Given the description of an element on the screen output the (x, y) to click on. 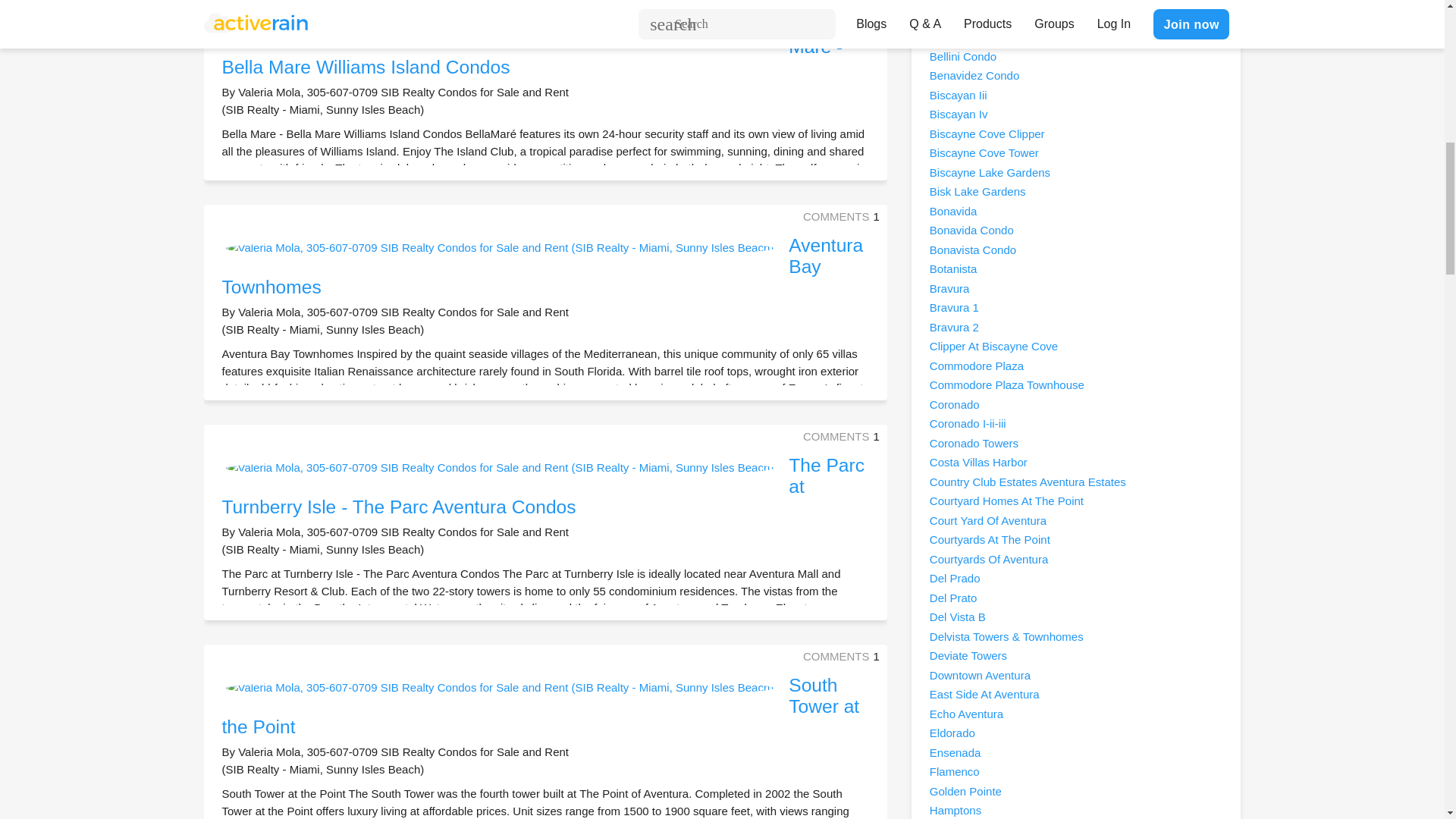
Bella Mare - Bella Mare Williams Island Condos (532, 45)
The Parc at Turnberry Isle - The Parc Aventura Condos (542, 485)
Aventura Bay Townhomes (542, 265)
South Tower at the Point (540, 705)
